Given the description of an element on the screen output the (x, y) to click on. 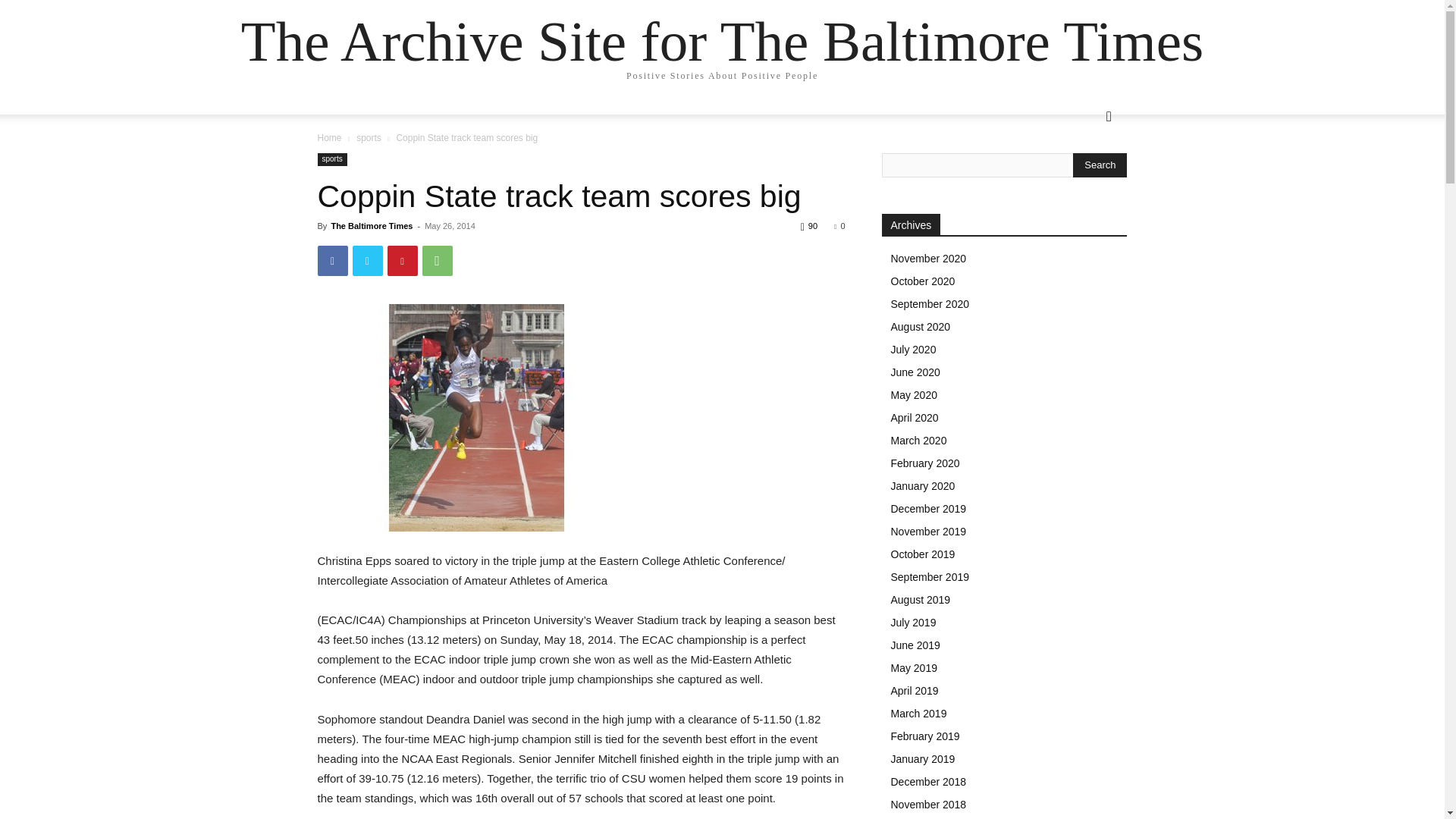
View all posts in sports (368, 137)
October 2020 (922, 281)
sports (331, 159)
May 2020 (912, 395)
WhatsApp (436, 260)
Twitter (366, 260)
Facebook (332, 260)
March 2020 (917, 440)
Search (1099, 165)
Search (1085, 177)
The Baltimore Times (371, 225)
July 2020 (912, 349)
August 2020 (919, 326)
0 (839, 225)
April 2020 (913, 417)
